Given the description of an element on the screen output the (x, y) to click on. 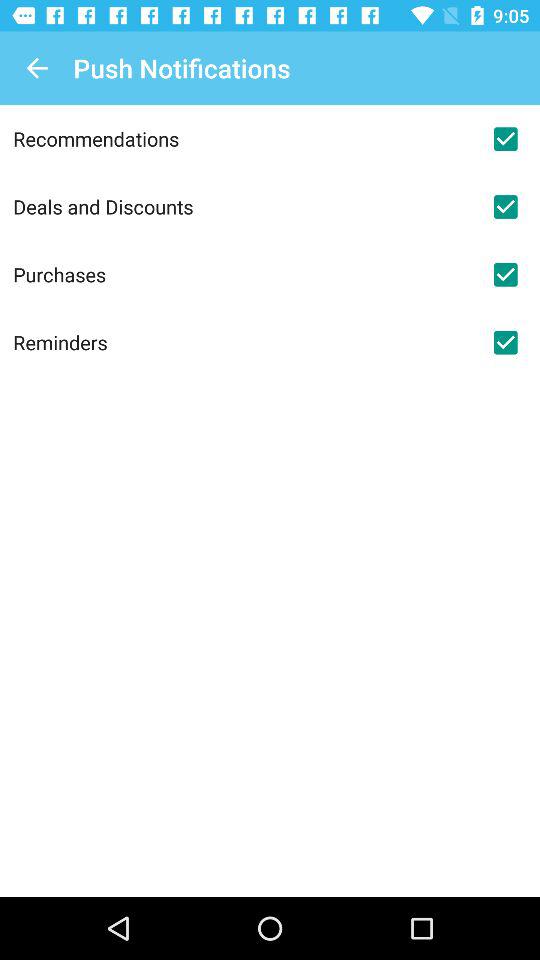
tap the item at the center (242, 342)
